Given the description of an element on the screen output the (x, y) to click on. 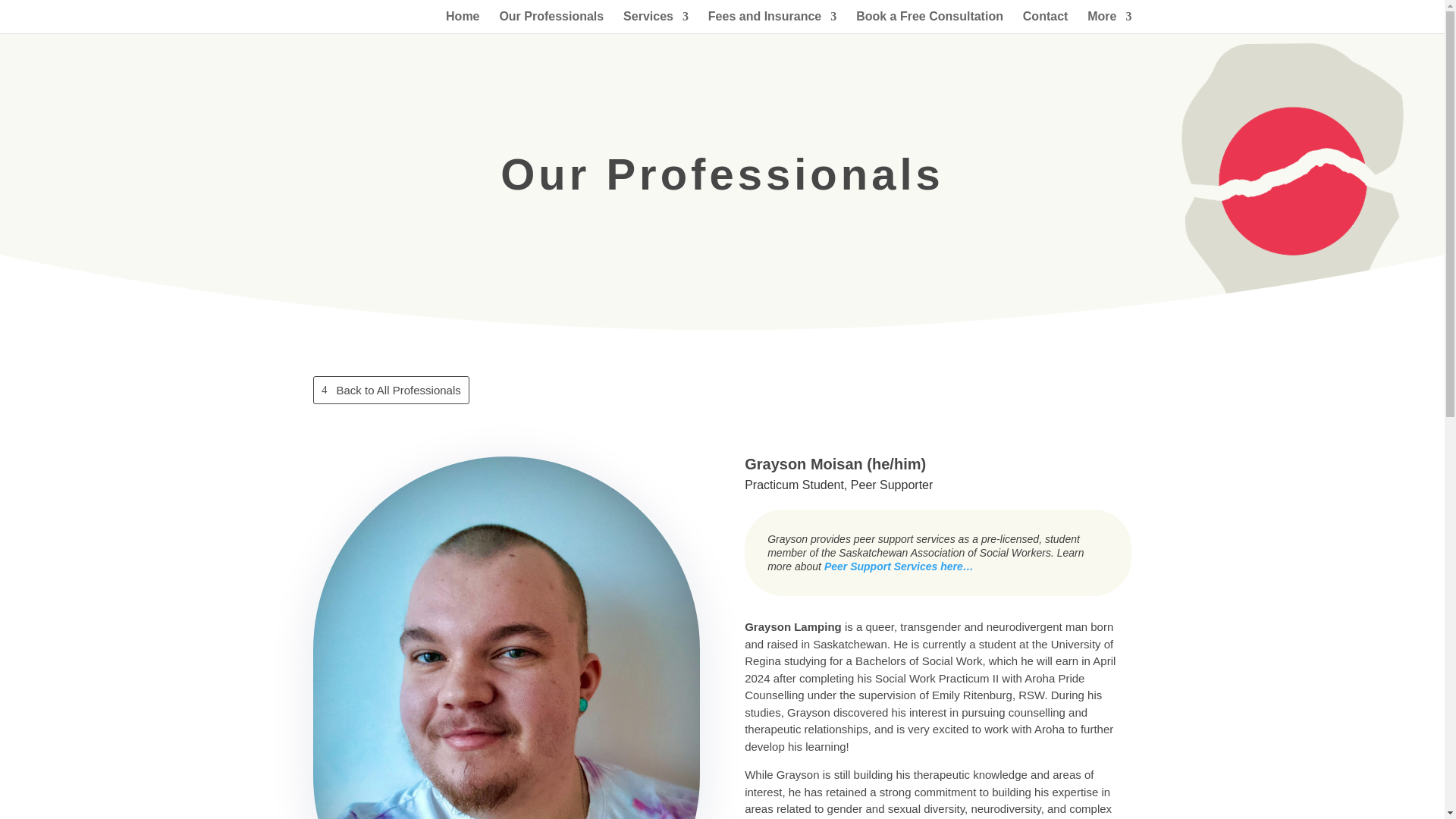
Services (655, 22)
Our Professionals (551, 22)
Contact (1045, 22)
Back to All Professionals (390, 389)
Home (462, 22)
Book a Free Consultation (929, 22)
Fees and Insurance (771, 22)
More (1109, 22)
